Given the description of an element on the screen output the (x, y) to click on. 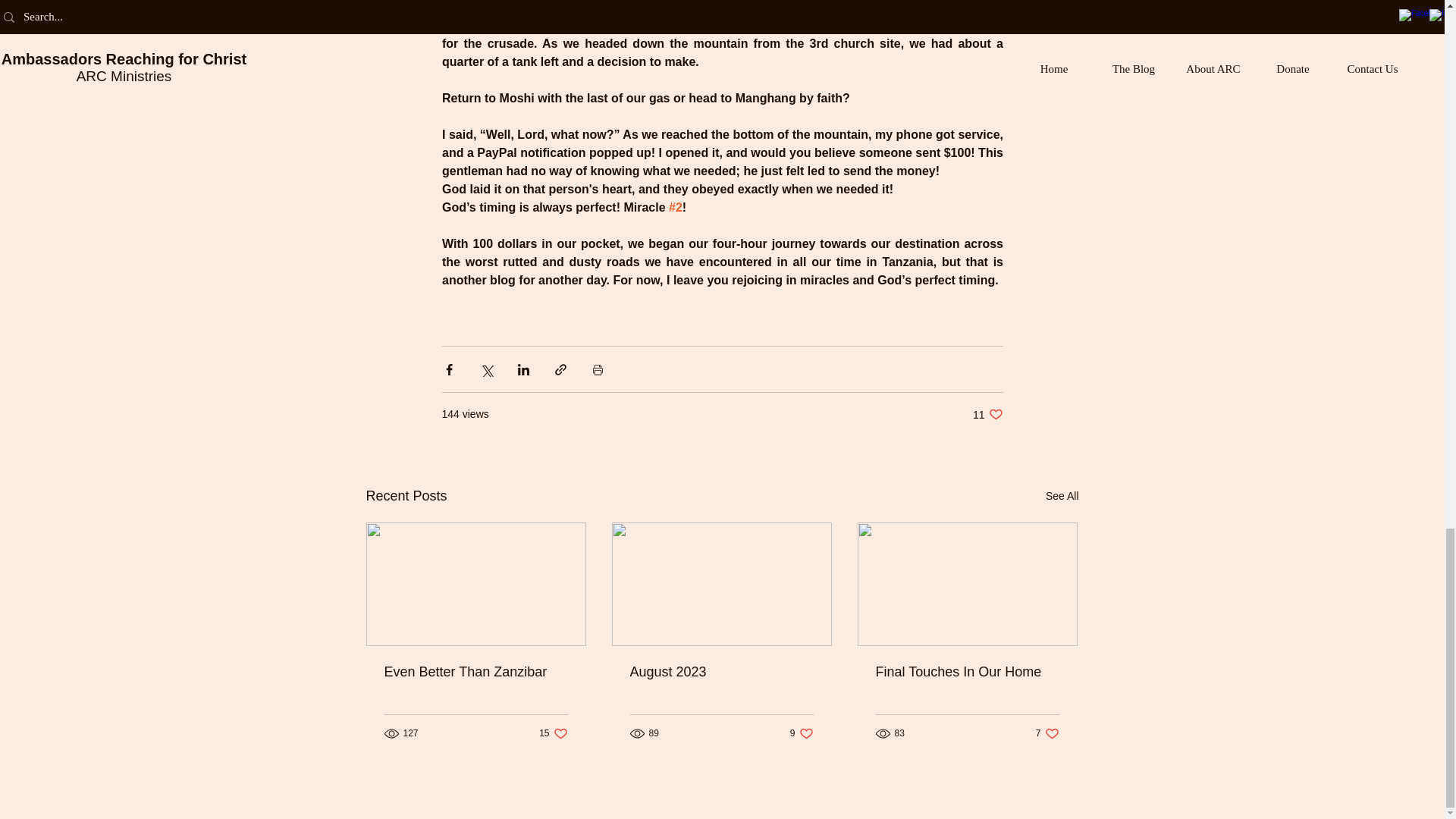
Even Better Than Zanzibar (801, 733)
See All (475, 672)
August 2023 (1061, 495)
Final Touches In Our Home (720, 672)
